Given the description of an element on the screen output the (x, y) to click on. 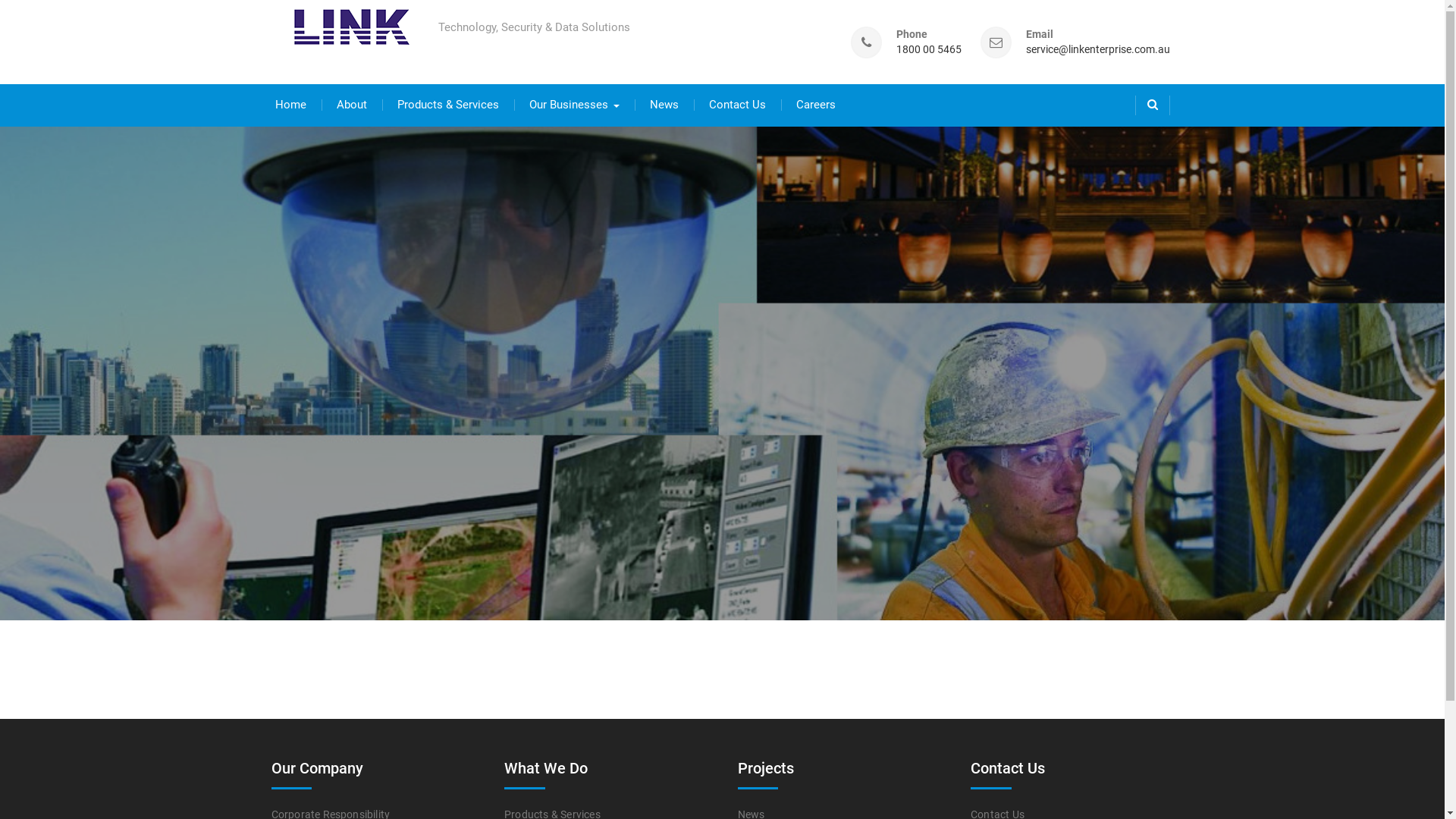
News Element type: text (663, 105)
Careers Element type: text (815, 105)
Products & Services Element type: text (447, 105)
Our Businesses Element type: text (574, 105)
Contact Us Element type: text (736, 105)
service@linkenterprise.com.au Element type: text (1097, 49)
1800 00 5465 Element type: text (928, 49)
About Element type: text (351, 105)
Home Element type: text (289, 105)
